Given the description of an element on the screen output the (x, y) to click on. 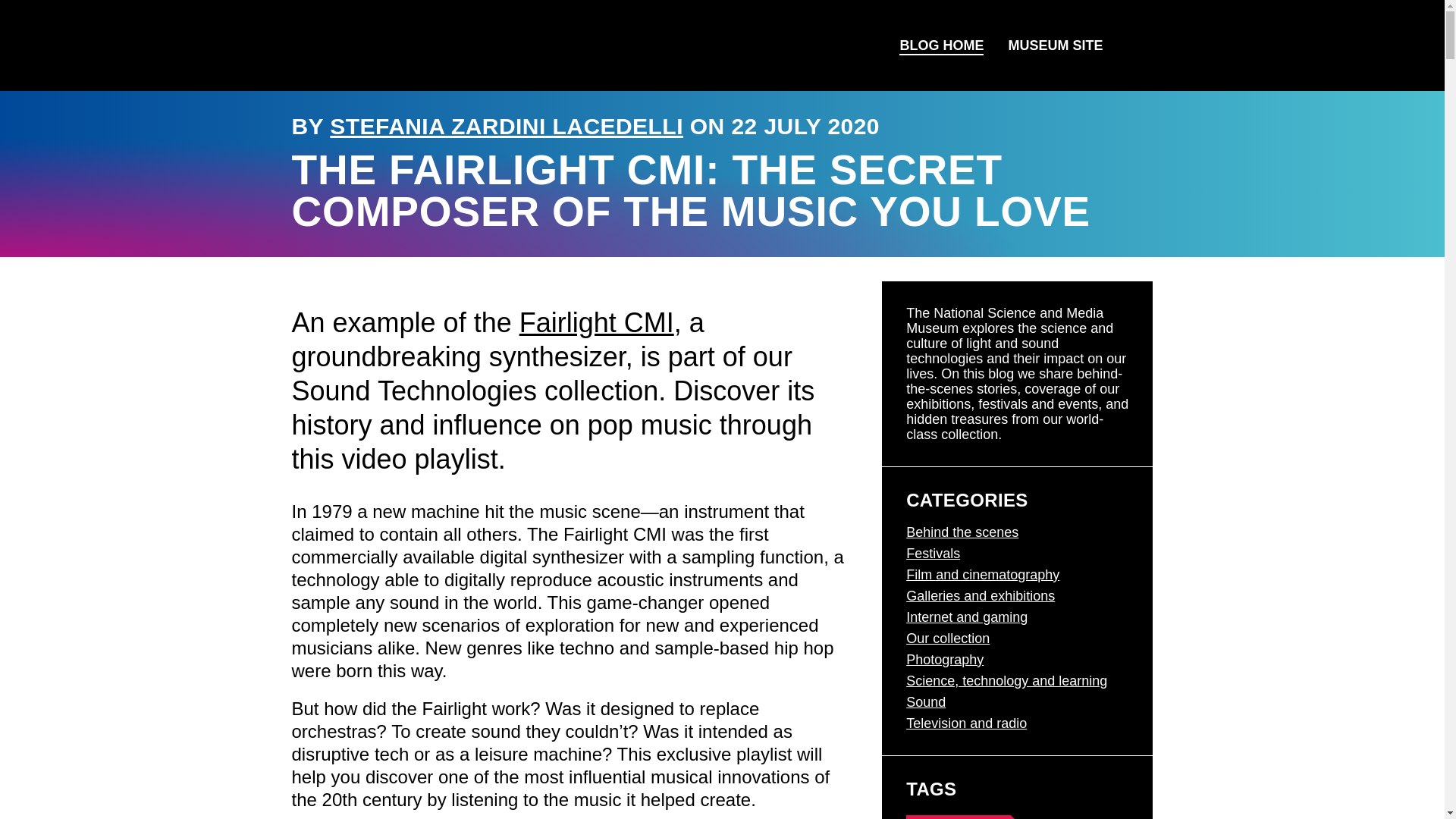
View all posts in Our collection (947, 638)
MUSEUM SITE (1055, 44)
STEFANIA ZARDINI LACEDELLI (506, 125)
OPEN SEARCH (1134, 45)
View all posts in Festivals (932, 553)
View all posts in Sound (924, 702)
View all posts in Behind the scenes (961, 531)
View all posts in Photography (944, 659)
BLOG HOME (940, 44)
OPEN SEARCH (1133, 45)
